Given the description of an element on the screen output the (x, y) to click on. 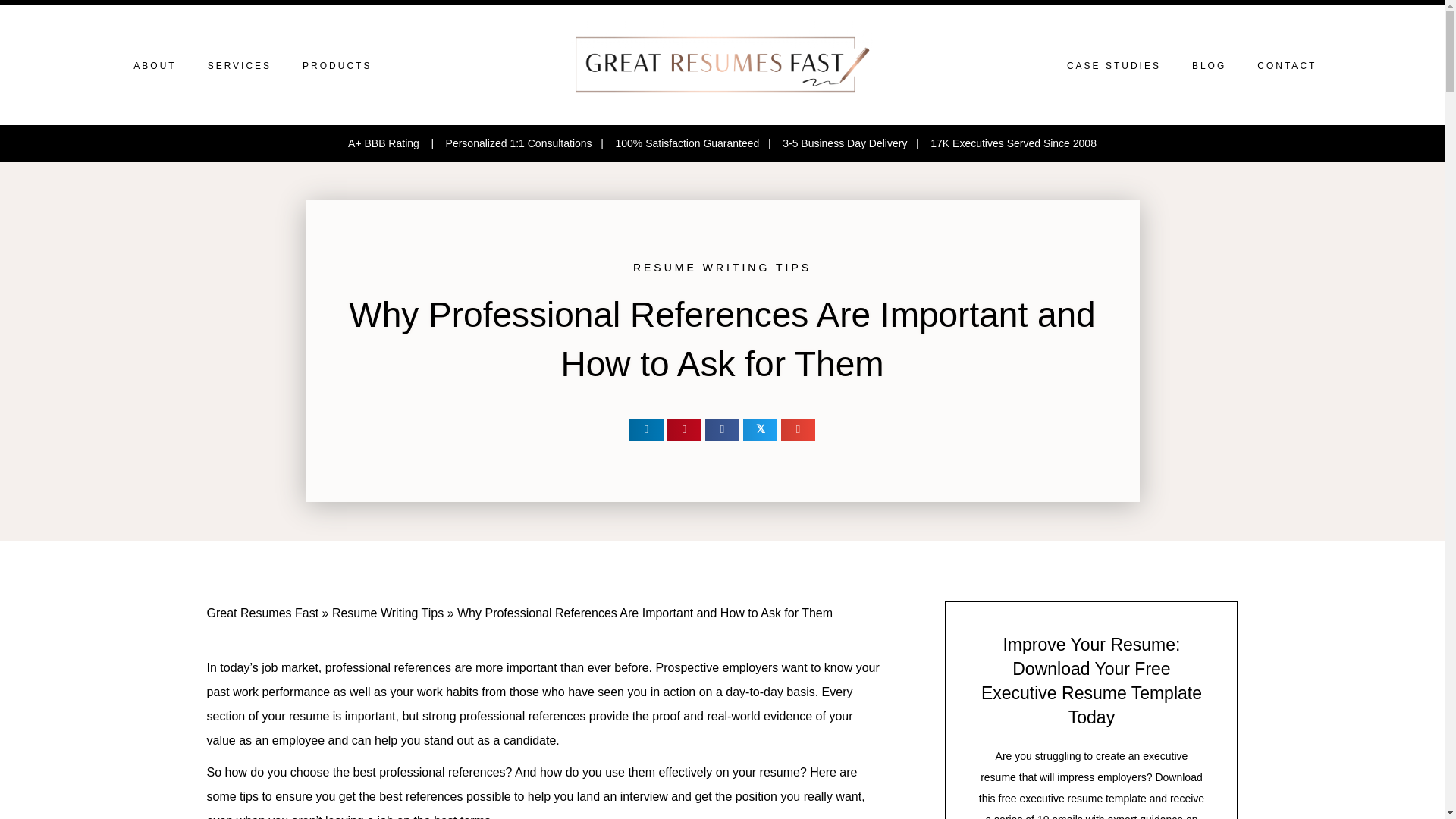
CONTACT (1286, 65)
Great Resumes Fast (262, 612)
ABOUT (153, 65)
SERVICES (239, 65)
BLOG (1208, 65)
PRODUCTS (336, 65)
Great Resumes Fast resume writing service (721, 63)
Resume Writing Tips (387, 612)
RESUME WRITING TIPS (721, 267)
CASE STUDIES (1113, 65)
